Given the description of an element on the screen output the (x, y) to click on. 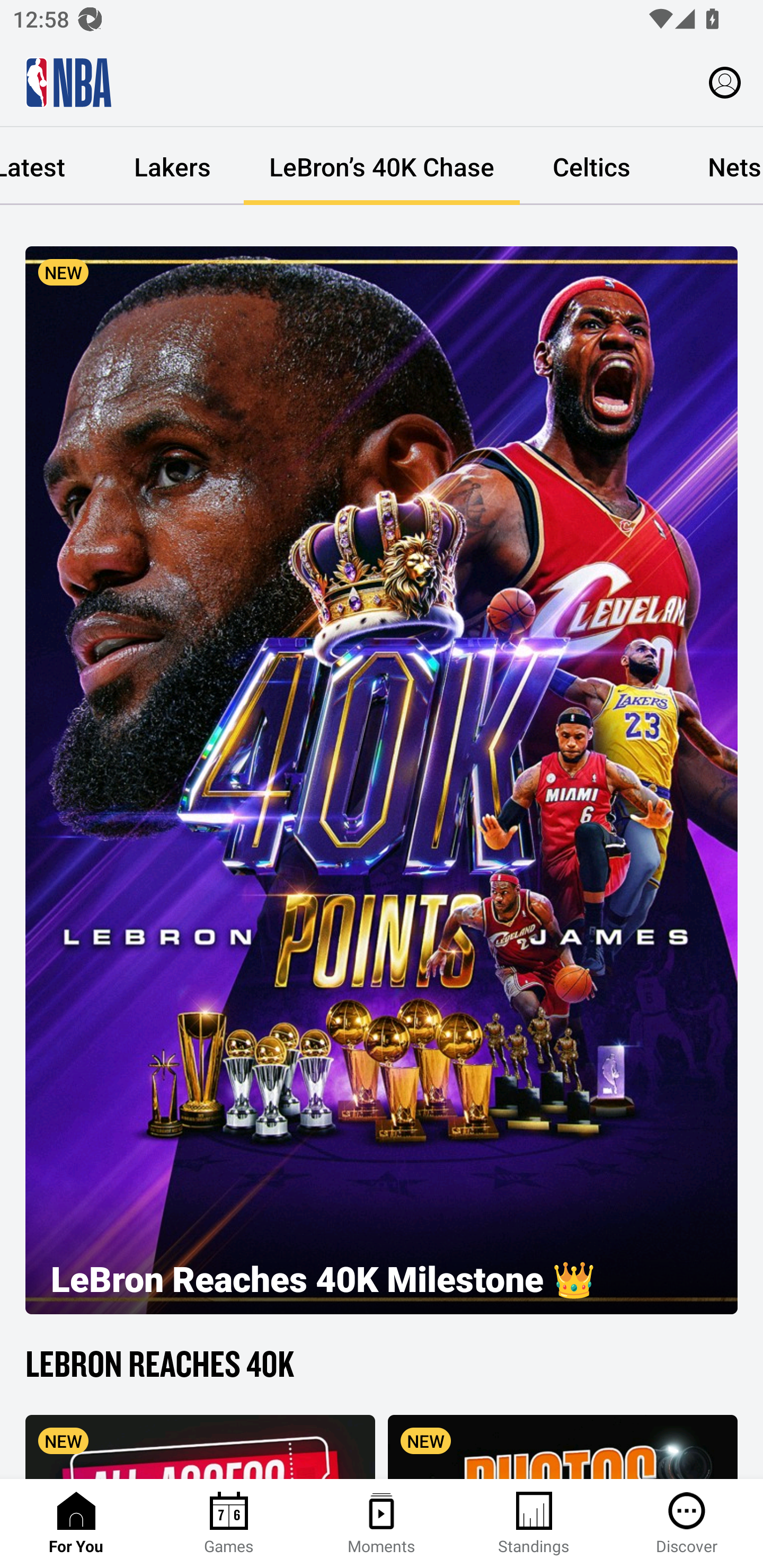
Profile (724, 81)
Latest (50, 166)
Lakers (171, 166)
Celtics (591, 166)
Nets (713, 166)
NEW LeBron Reaches 40K Milestone 👑 (381, 779)
LEBRON REACHES 40K NEW NEW (381, 1408)
Games (228, 1523)
Moments (381, 1523)
Standings (533, 1523)
Discover (686, 1523)
